Given the description of an element on the screen output the (x, y) to click on. 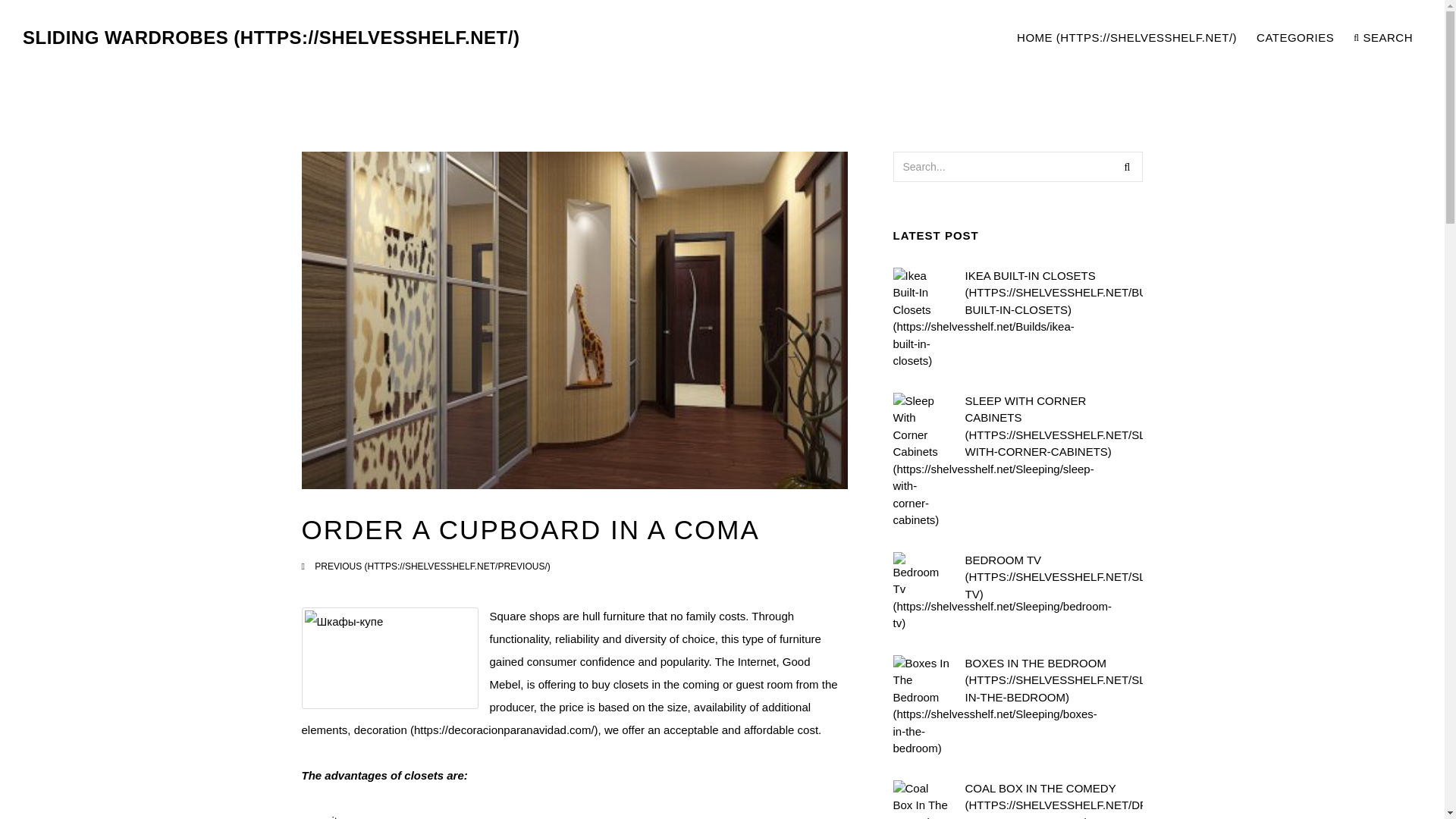
HOME (1126, 38)
SEARCH (1382, 38)
PREVIOUS (432, 566)
BOXES IN THE BEDROOM (1052, 680)
BEDROOM TV (1052, 577)
Sliding Wardrobes (271, 38)
CATEGORIES (1294, 38)
Search (1126, 166)
COAL BOX IN THE COMEDY (1052, 799)
IKEA BUILT-IN CLOSETS (1052, 292)
